Given the description of an element on the screen output the (x, y) to click on. 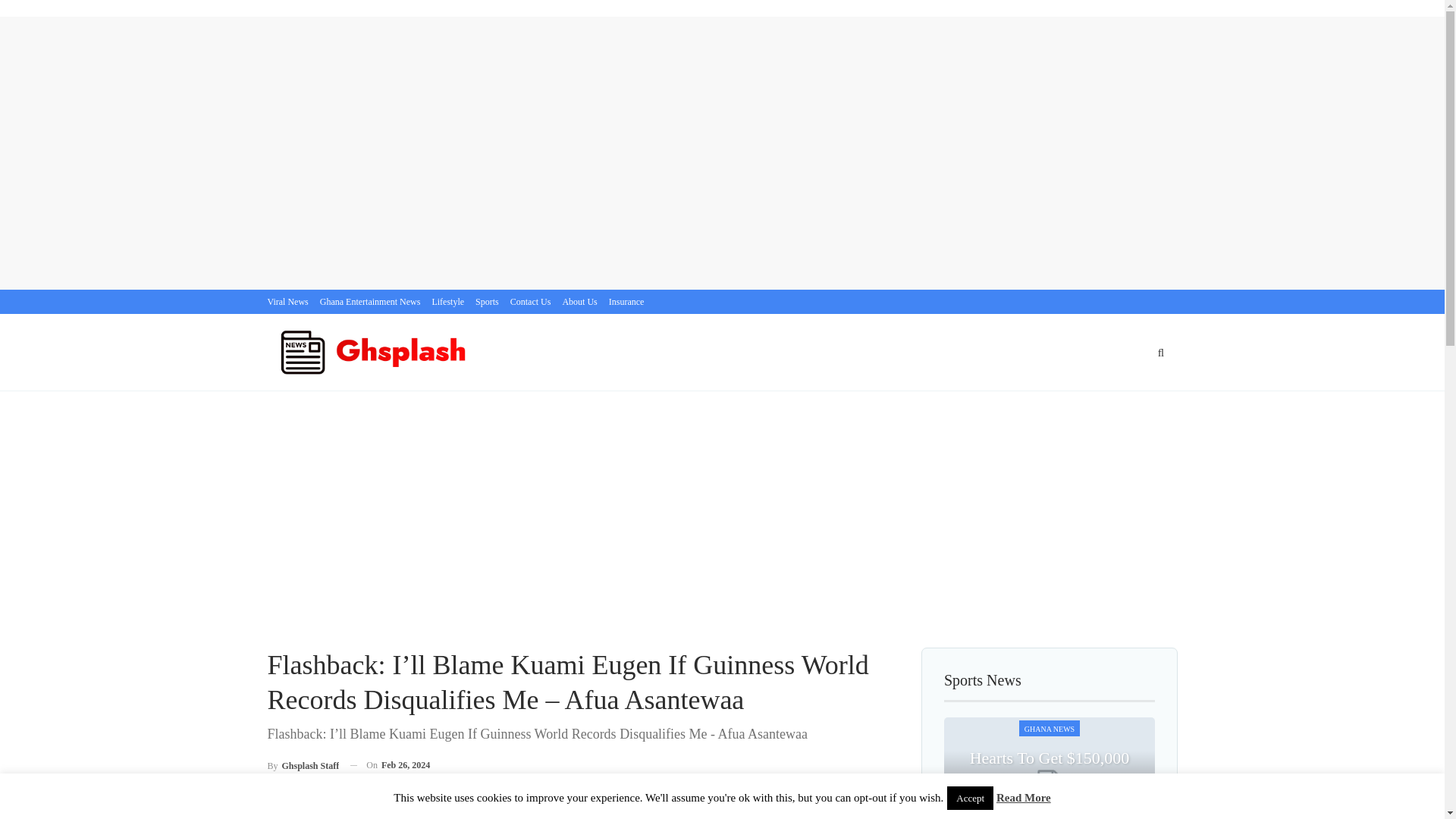
Ghana Entertainment News (370, 301)
About Us (579, 301)
GHANA NEWS (1049, 728)
Viral News (286, 301)
Contact Us (531, 301)
Lifestyle (447, 301)
Sports News (982, 680)
Insurance (626, 301)
Browse Author Articles (302, 765)
Sports (487, 301)
By Ghsplash Staff (302, 765)
